Given the description of an element on the screen output the (x, y) to click on. 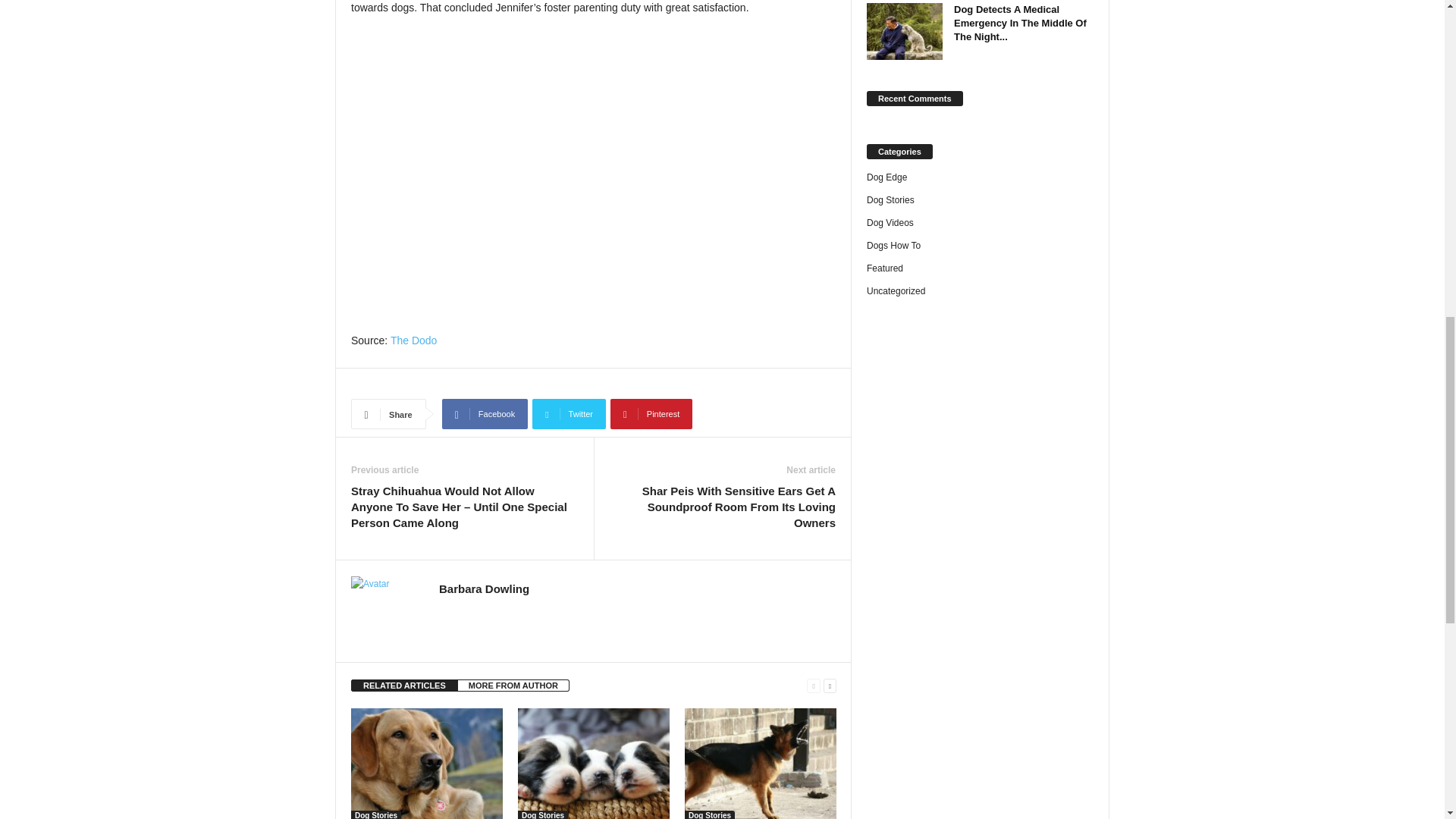
Twitter (568, 413)
The Dodo (413, 340)
Pinterest (651, 413)
Dog Breeds Suited For People Who Like to Be Alone (759, 763)
Facebook (485, 413)
